Given the description of an element on the screen output the (x, y) to click on. 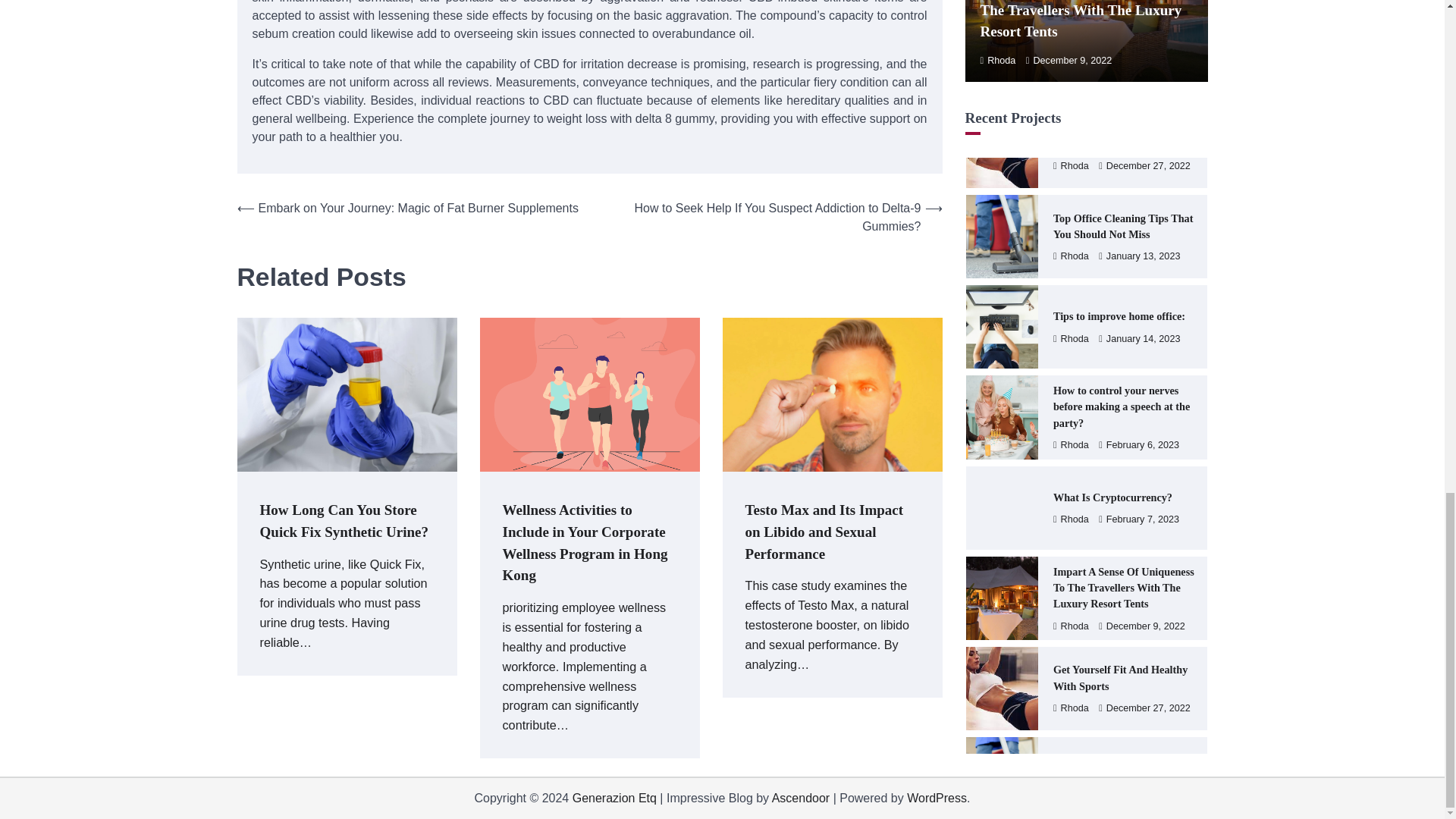
Testo Max and Its Impact on Libido and Sexual Performance (823, 531)
How Long Can You Store Quick Fix Synthetic Urine? (343, 520)
